Given the description of an element on the screen output the (x, y) to click on. 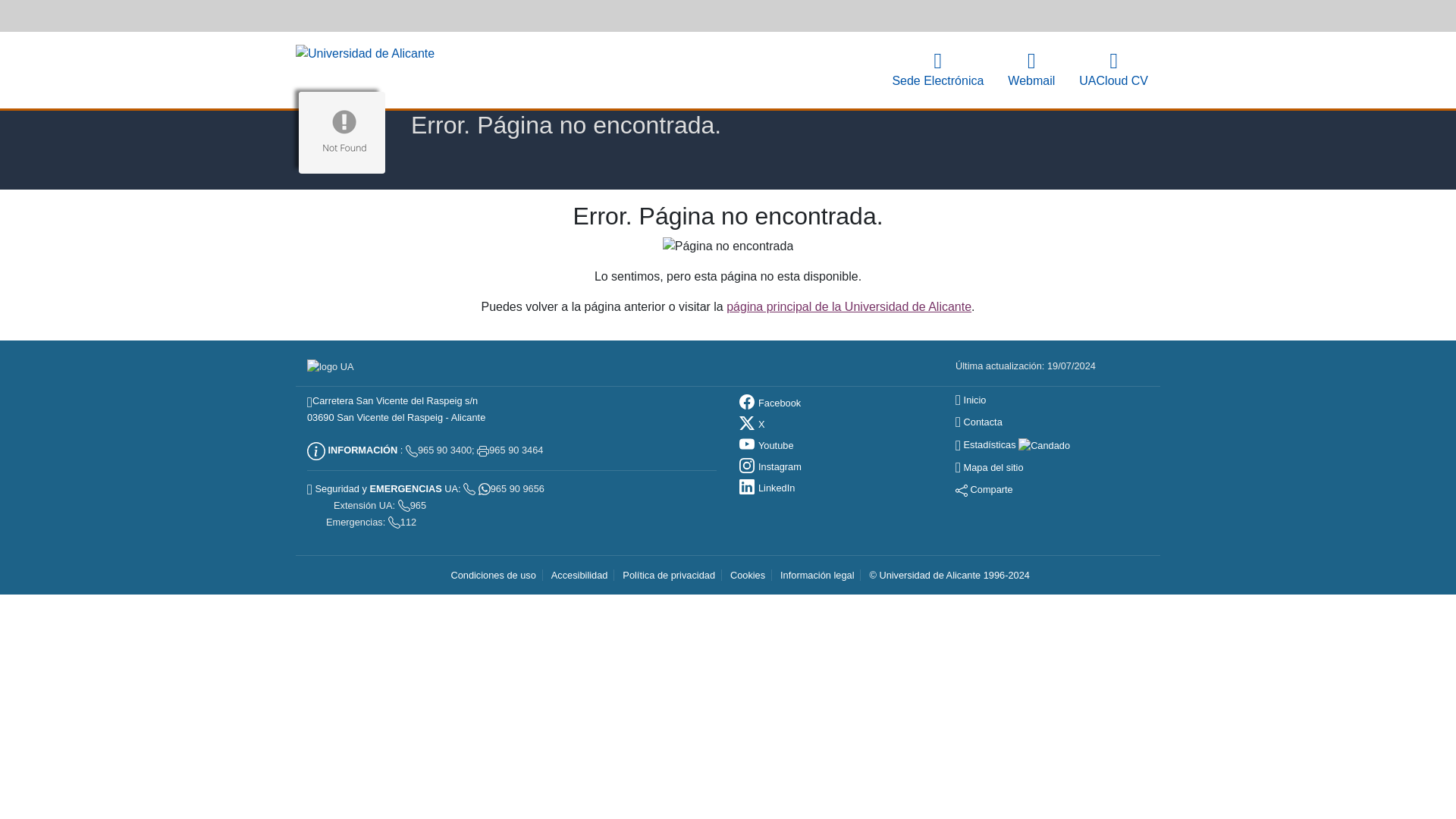
Accesibilidad (579, 574)
Condiciones de uso (492, 574)
Inicio (970, 399)
Comparte (984, 489)
Youtube (766, 445)
LinkedIn (766, 487)
UACloud CV (1113, 70)
Seguridad y EMERGENCIAS UA: (384, 488)
Cookies (747, 574)
Contacta (979, 421)
Mapa del sitio (989, 467)
Webmail (1031, 70)
Facebook (769, 402)
Instagram (770, 466)
X (752, 423)
